Given the description of an element on the screen output the (x, y) to click on. 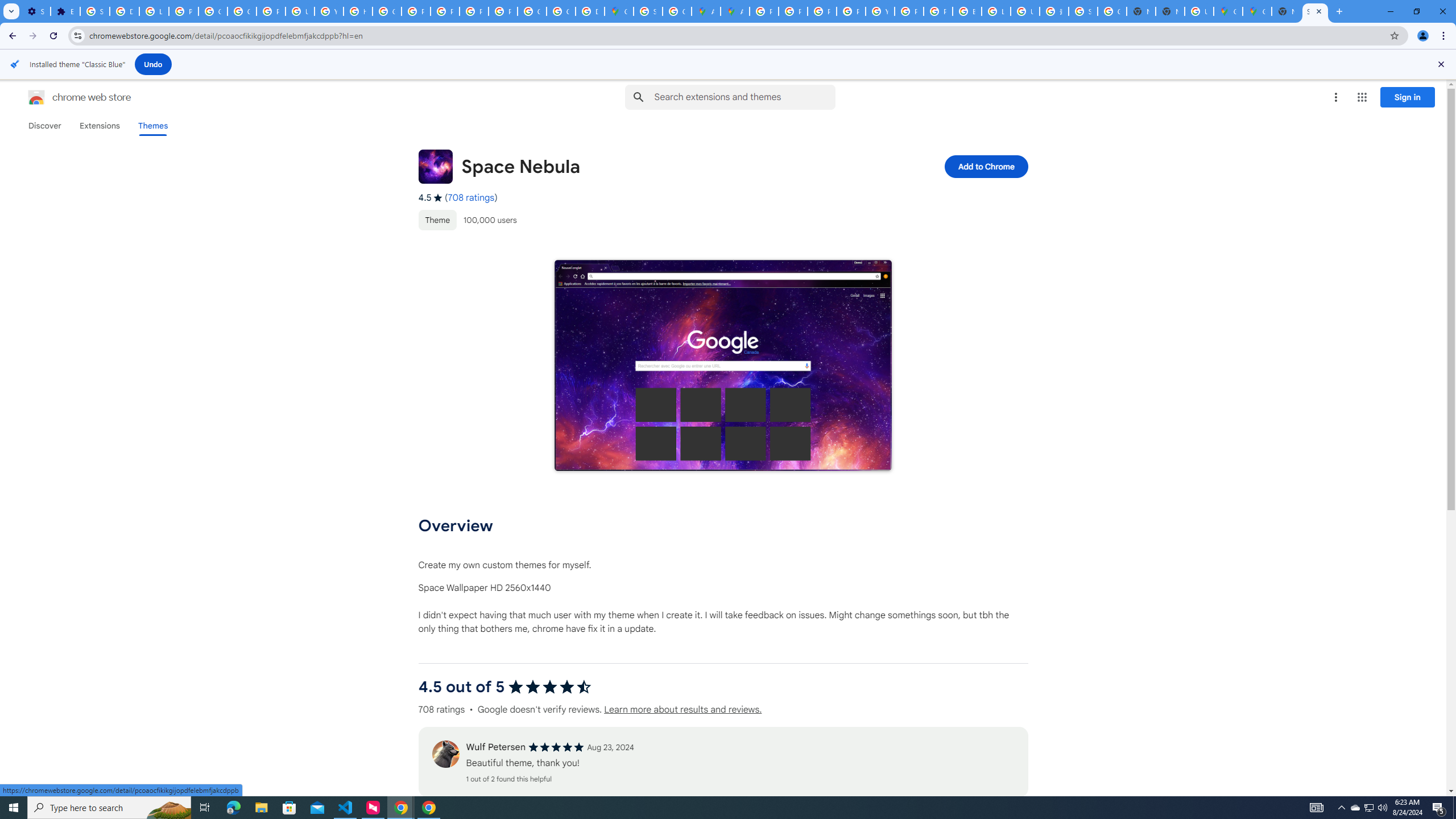
Item logo image for Space Nebula Space Nebula (645, 166)
New Tab (1169, 11)
Sign in - Google Accounts (95, 11)
Browse Chrome as a guest - Computer - Google Chrome Help (967, 11)
Theme (437, 219)
New Tab (1286, 11)
Use Google Maps in Space - Google Maps Help (1198, 11)
Item media 1 screenshot (722, 364)
Chrome Web Store logo (36, 97)
